Given the description of an element on the screen output the (x, y) to click on. 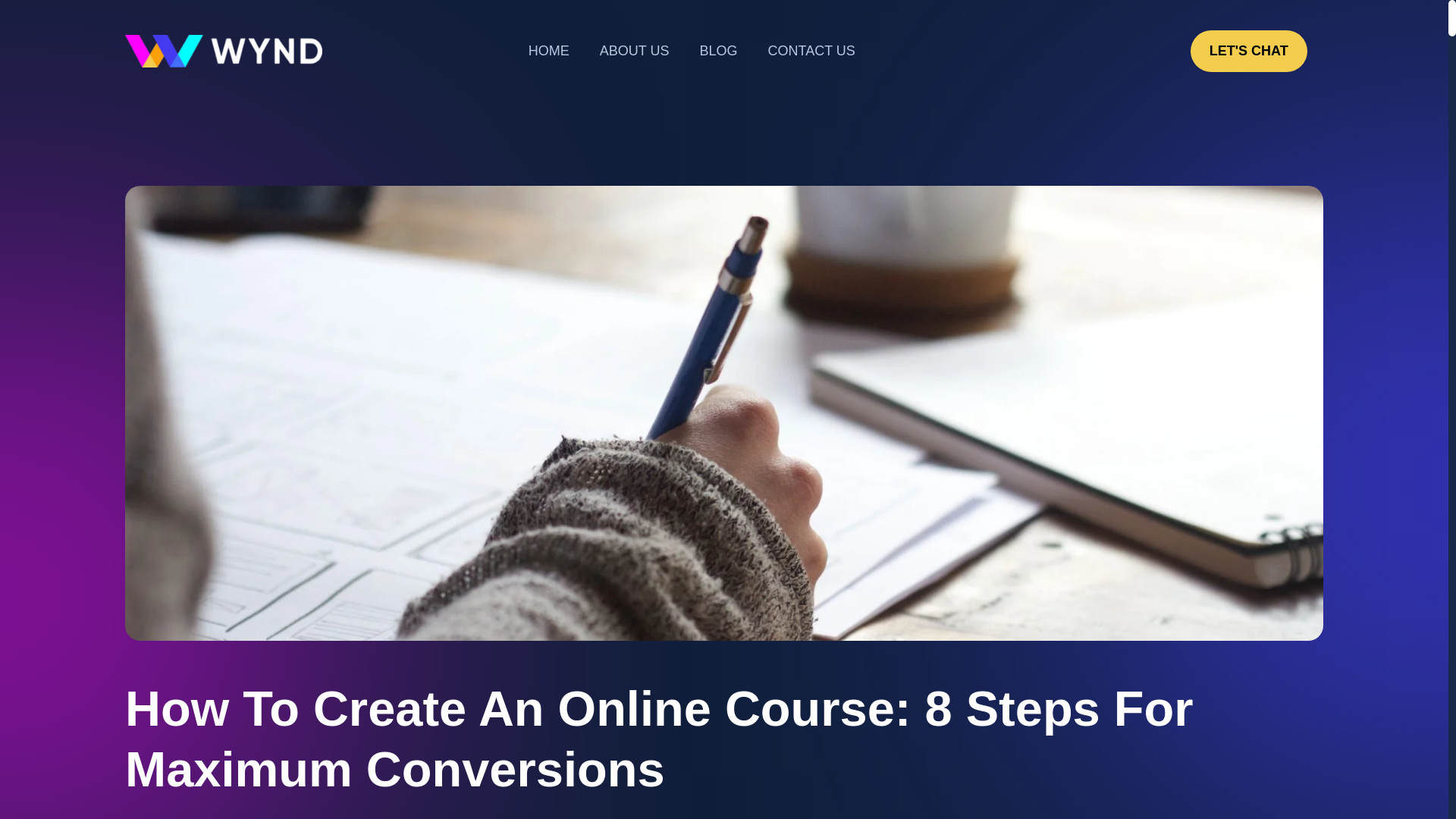
ABOUT US (634, 51)
LET'S CHAT (1249, 51)
CONTACT US (810, 51)
BLOG (718, 51)
HOME (549, 51)
